Given the description of an element on the screen output the (x, y) to click on. 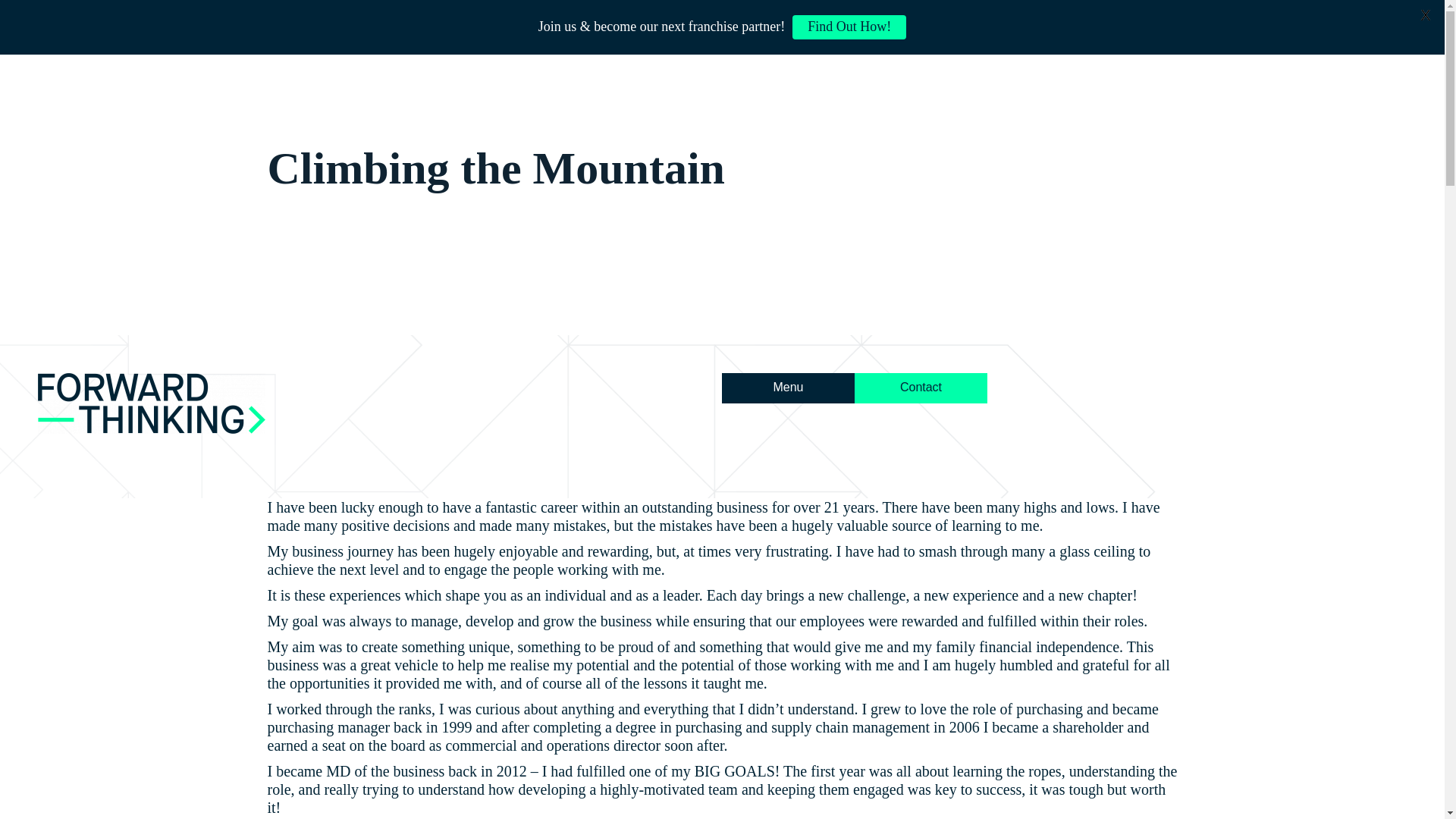
Post Comment (52, 15)
Menu (788, 484)
Find Out How! (848, 27)
Contact (920, 472)
